Given the description of an element on the screen output the (x, y) to click on. 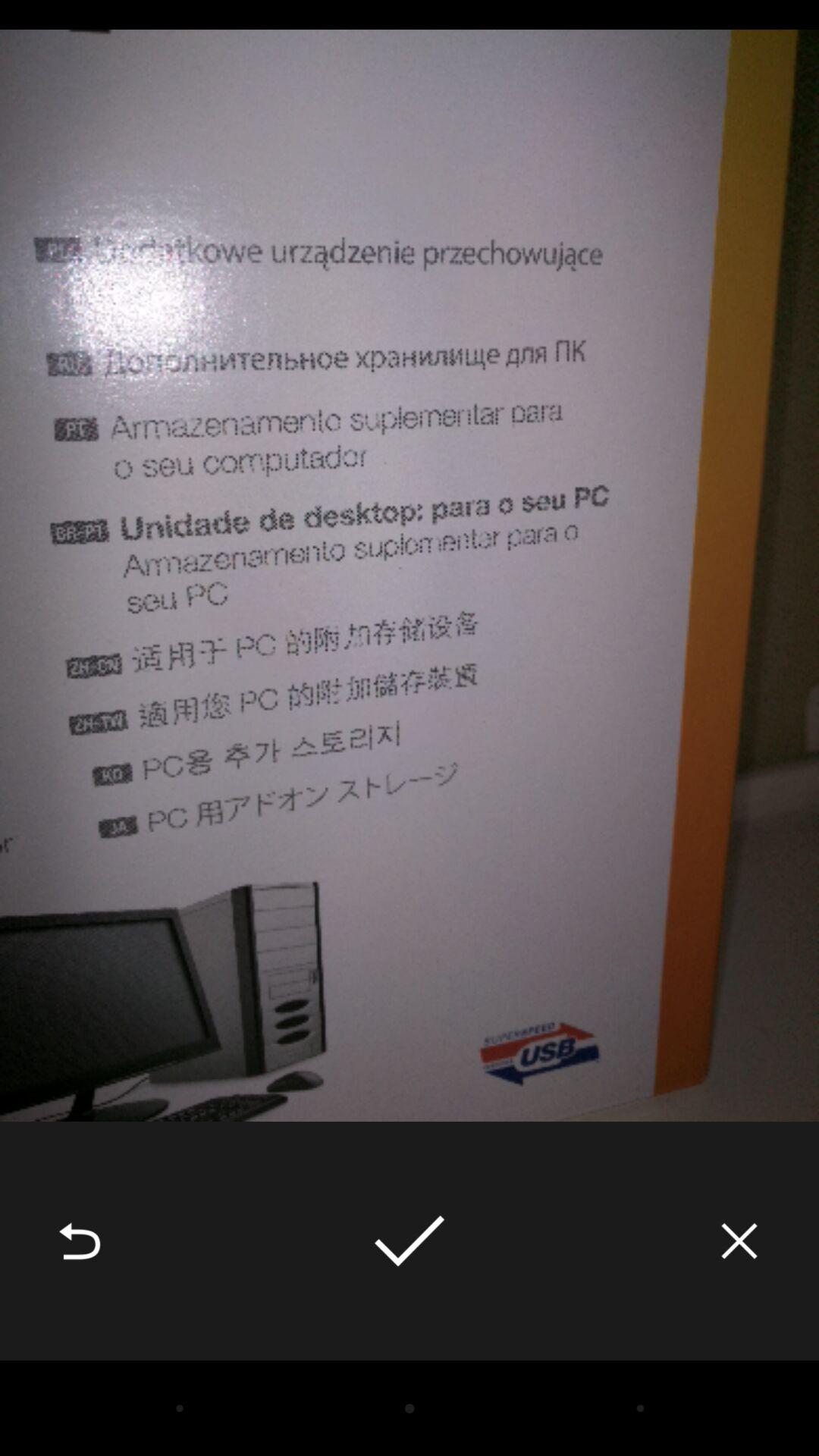
launch item at the bottom left corner (79, 1240)
